Given the description of an element on the screen output the (x, y) to click on. 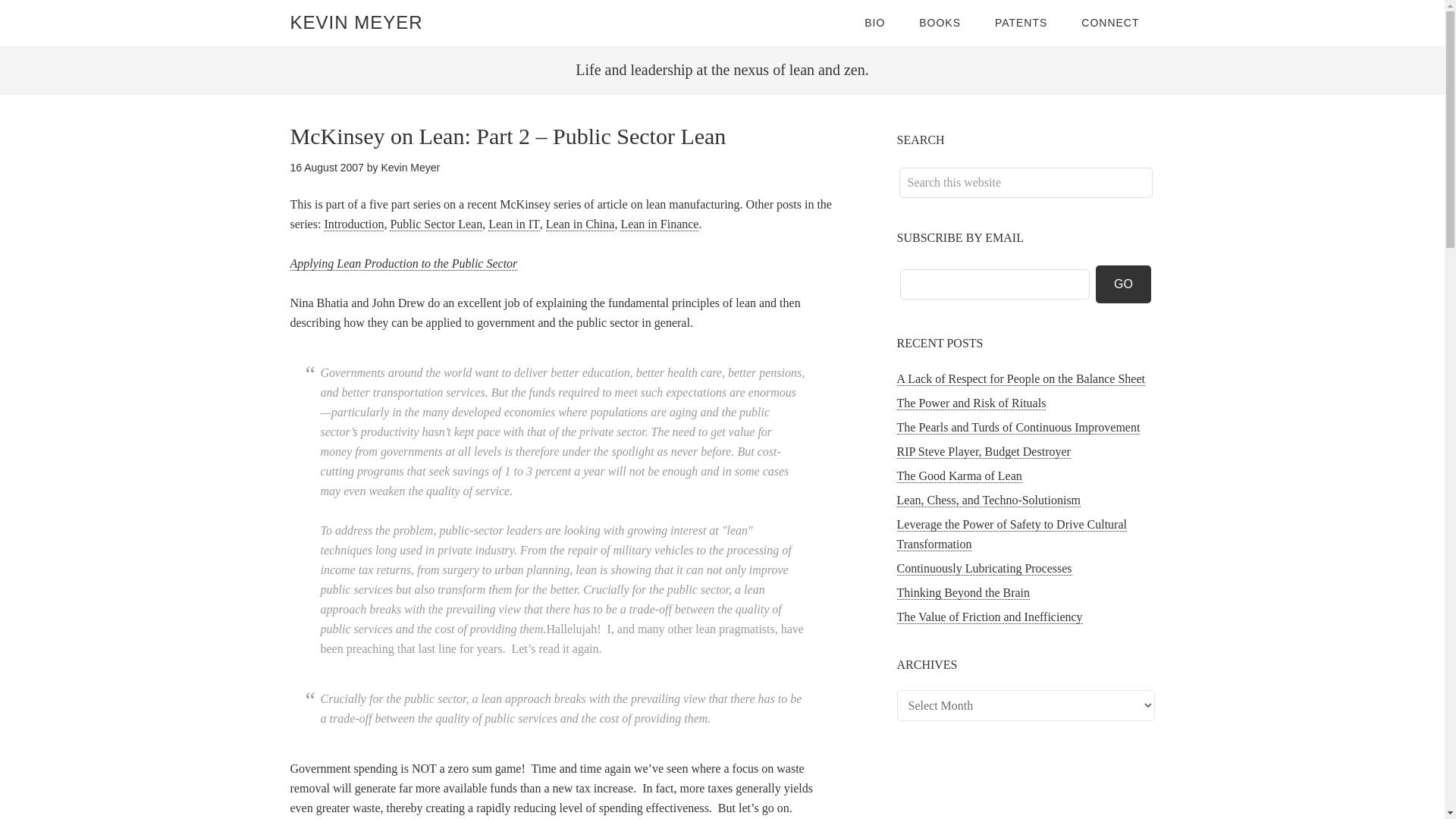
Lean, Chess, and Techno-Solutionism (988, 499)
Lean in IT (513, 223)
RIP Steve Player, Budget Destroyer (983, 451)
Thinking Beyond the Brain (962, 592)
Applying Lean Production to the Public Sector (402, 264)
A Lack of Respect for People on the Balance Sheet (1020, 378)
Lean in China (580, 223)
CONNECT (1109, 22)
Go (1123, 284)
